Given the description of an element on the screen output the (x, y) to click on. 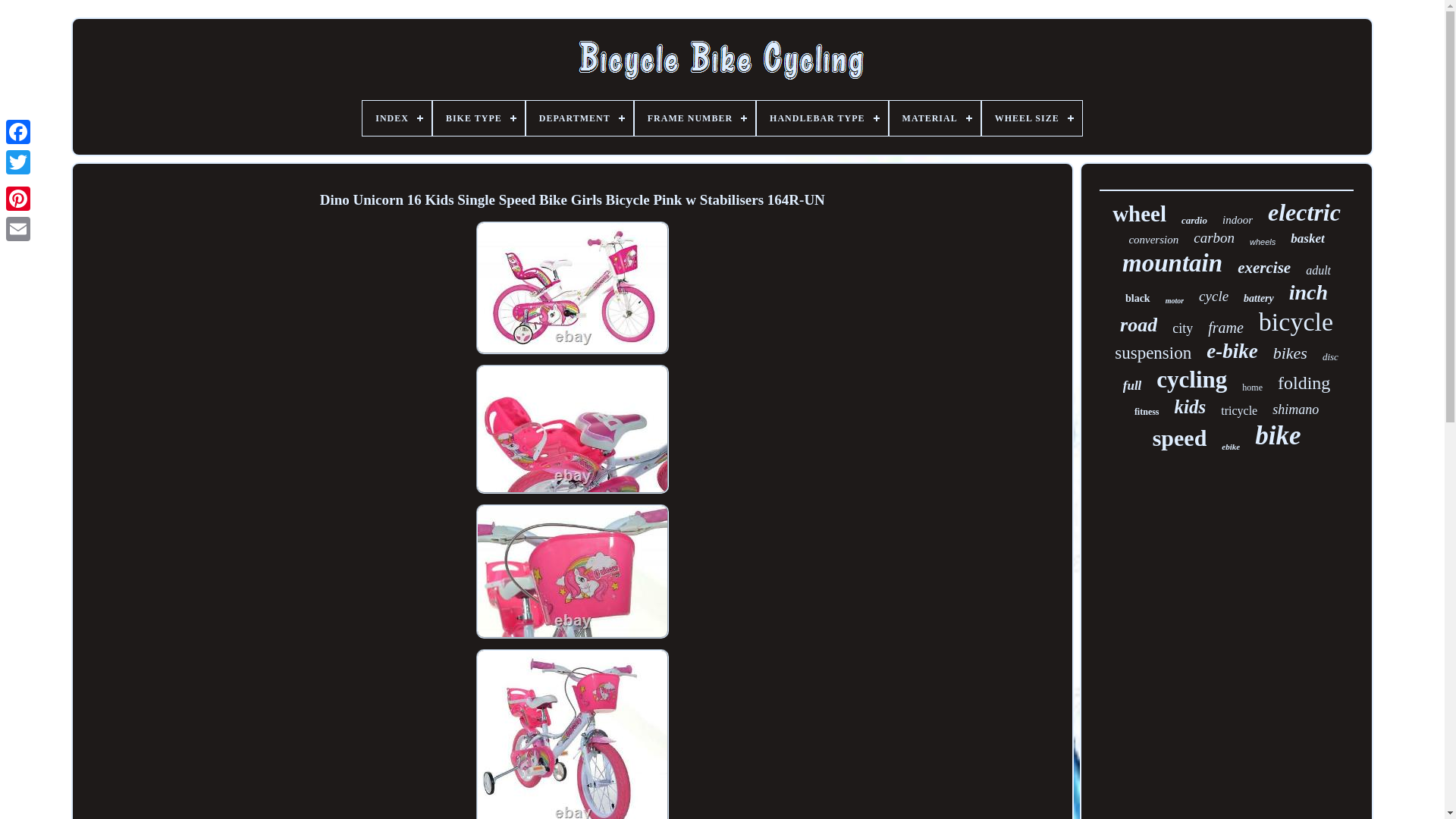
DEPARTMENT (579, 117)
INDEX (396, 117)
BIKE TYPE (478, 117)
Twitter (17, 162)
